Given the description of an element on the screen output the (x, y) to click on. 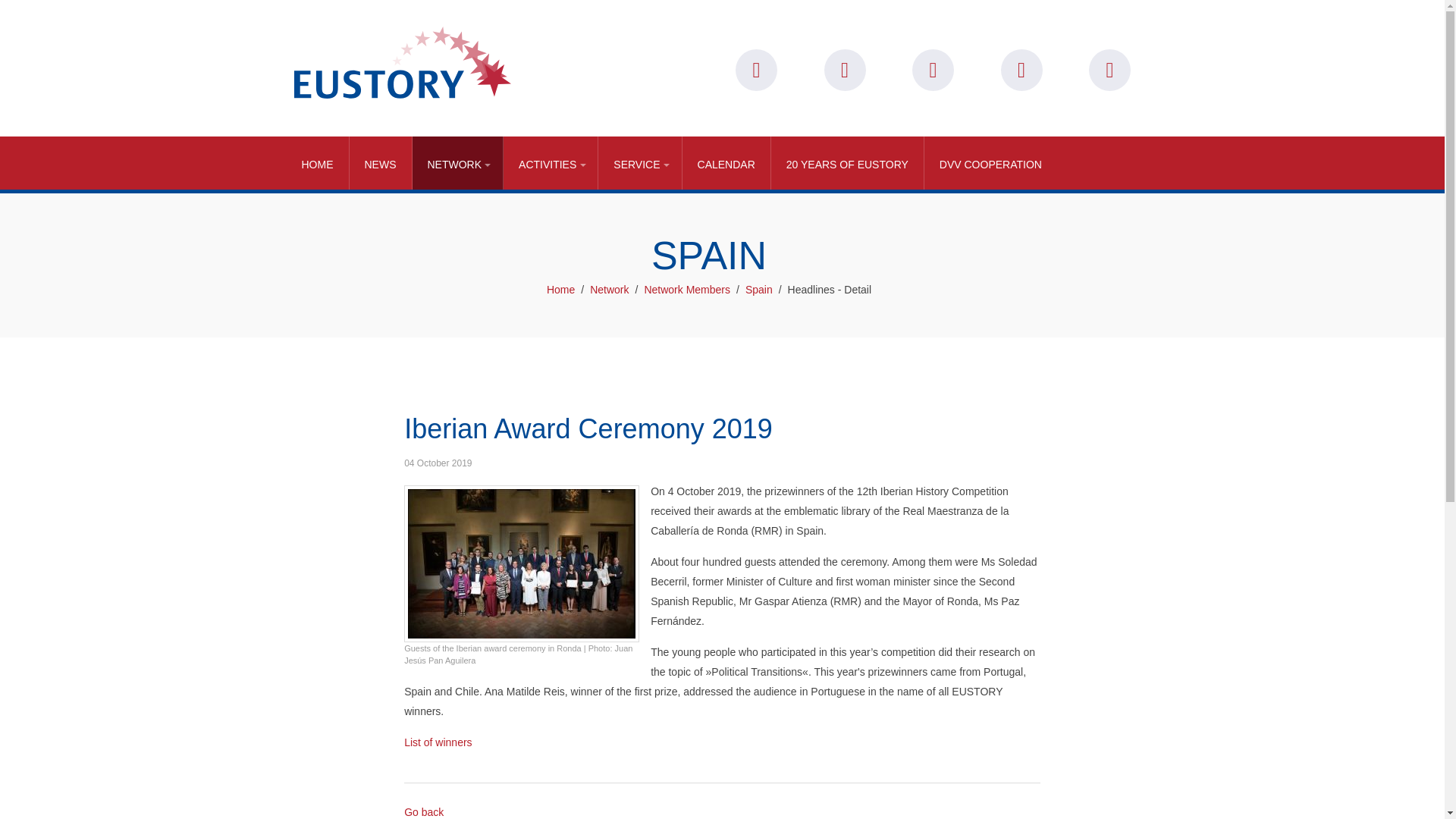
NETWORK (457, 162)
CALENDAR (726, 162)
News (380, 162)
20 YEARS OF EUSTORY (847, 162)
Send us an email (844, 69)
List of winners (437, 742)
Network Members (686, 289)
Home (317, 162)
Subscribe to our newsletter (756, 69)
NEWS (380, 162)
